Given the description of an element on the screen output the (x, y) to click on. 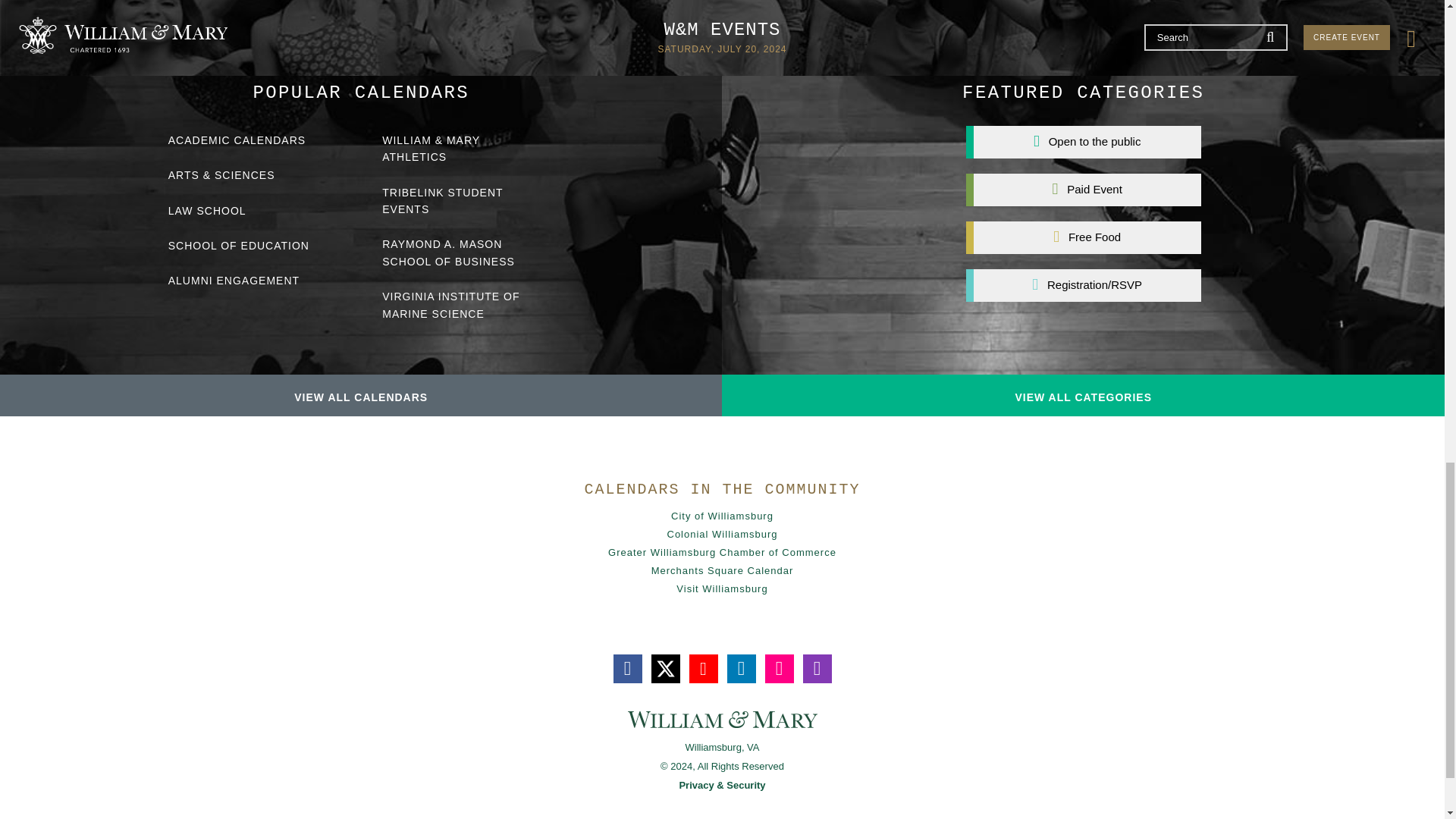
Flickr (778, 668)
LinkedIn (740, 668)
Instagram (816, 668)
YouTube (702, 668)
X (664, 668)
Facebook (627, 668)
